Given the description of an element on the screen output the (x, y) to click on. 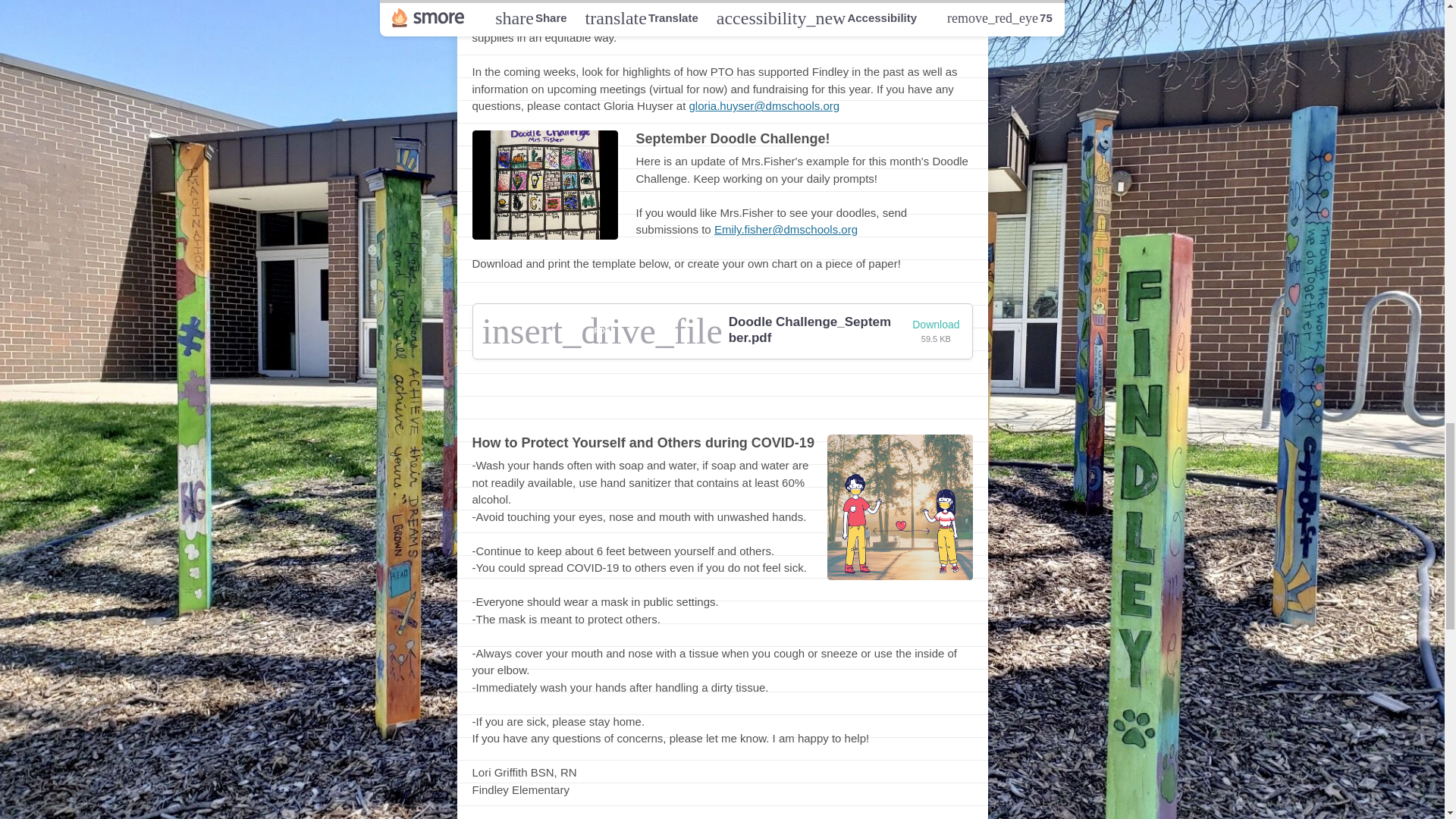
Nurse (793, 403)
Lori (837, 403)
with (743, 403)
Health (621, 403)
Update (687, 403)
